Given the description of an element on the screen output the (x, y) to click on. 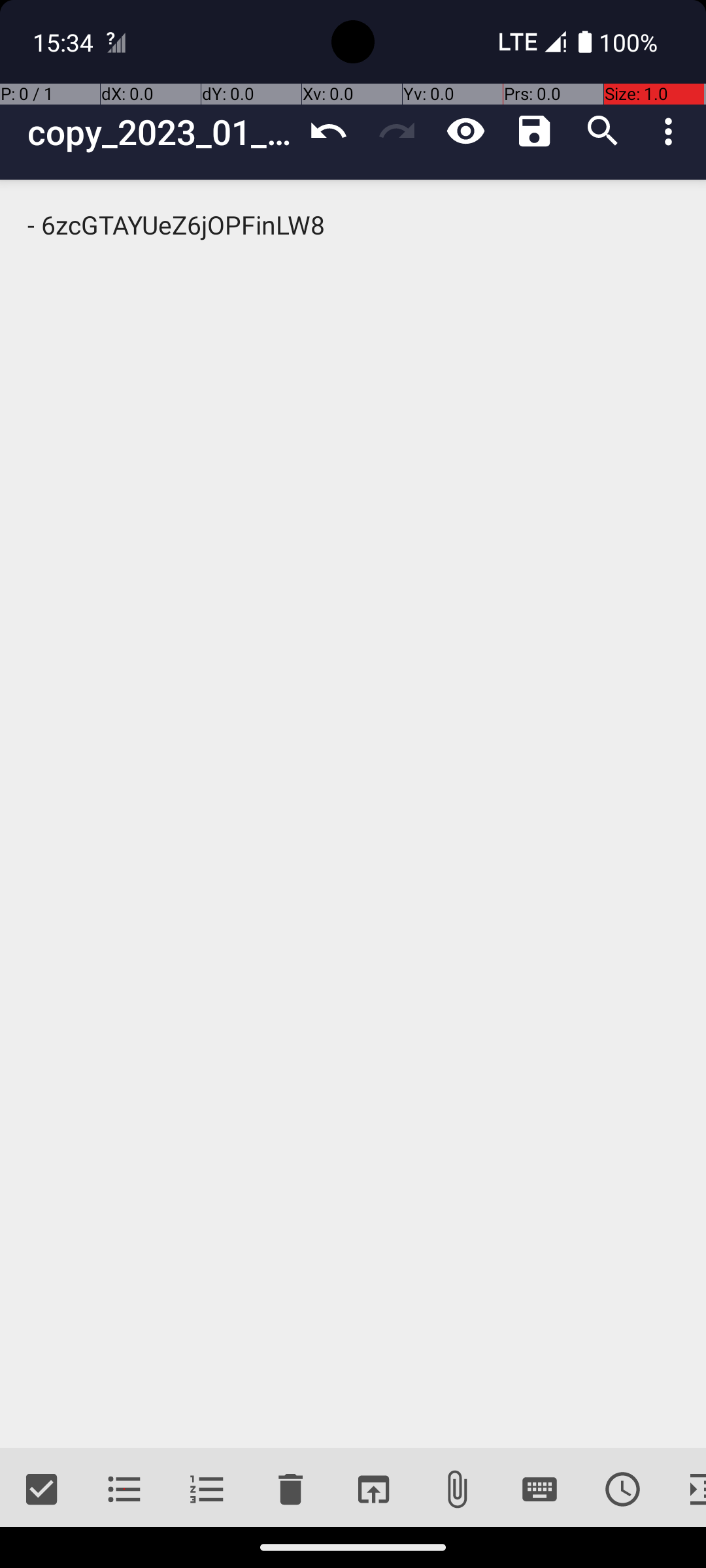
copy_2023_01_11_pretty_koala Element type: android.widget.TextView (160, 131)
6zcGTAYUeZ6jOPFinLW8 Element type: android.widget.EditText (353, 813)
